Given the description of an element on the screen output the (x, y) to click on. 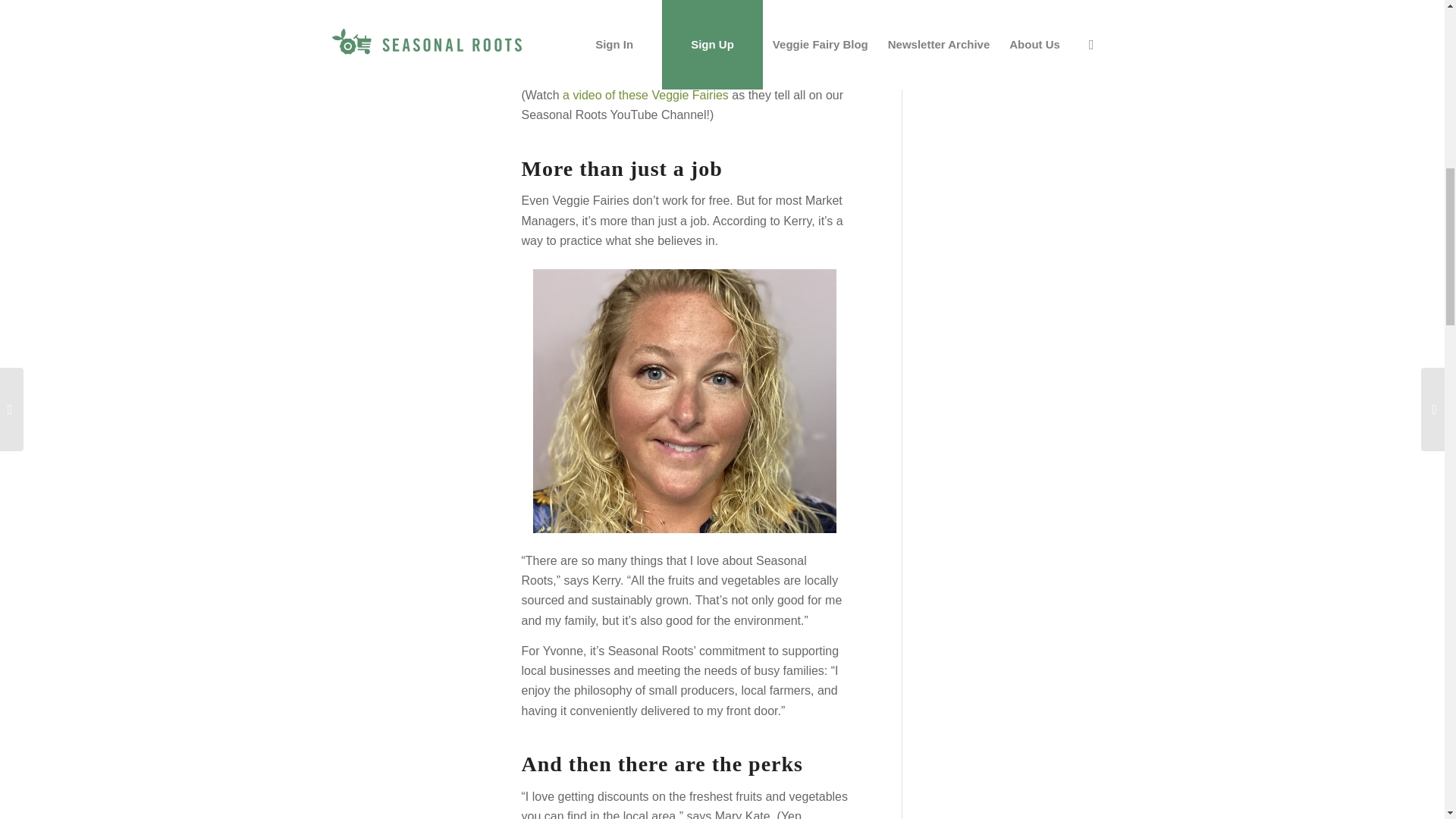
a video of these Veggie Fairies (645, 94)
